Given the description of an element on the screen output the (x, y) to click on. 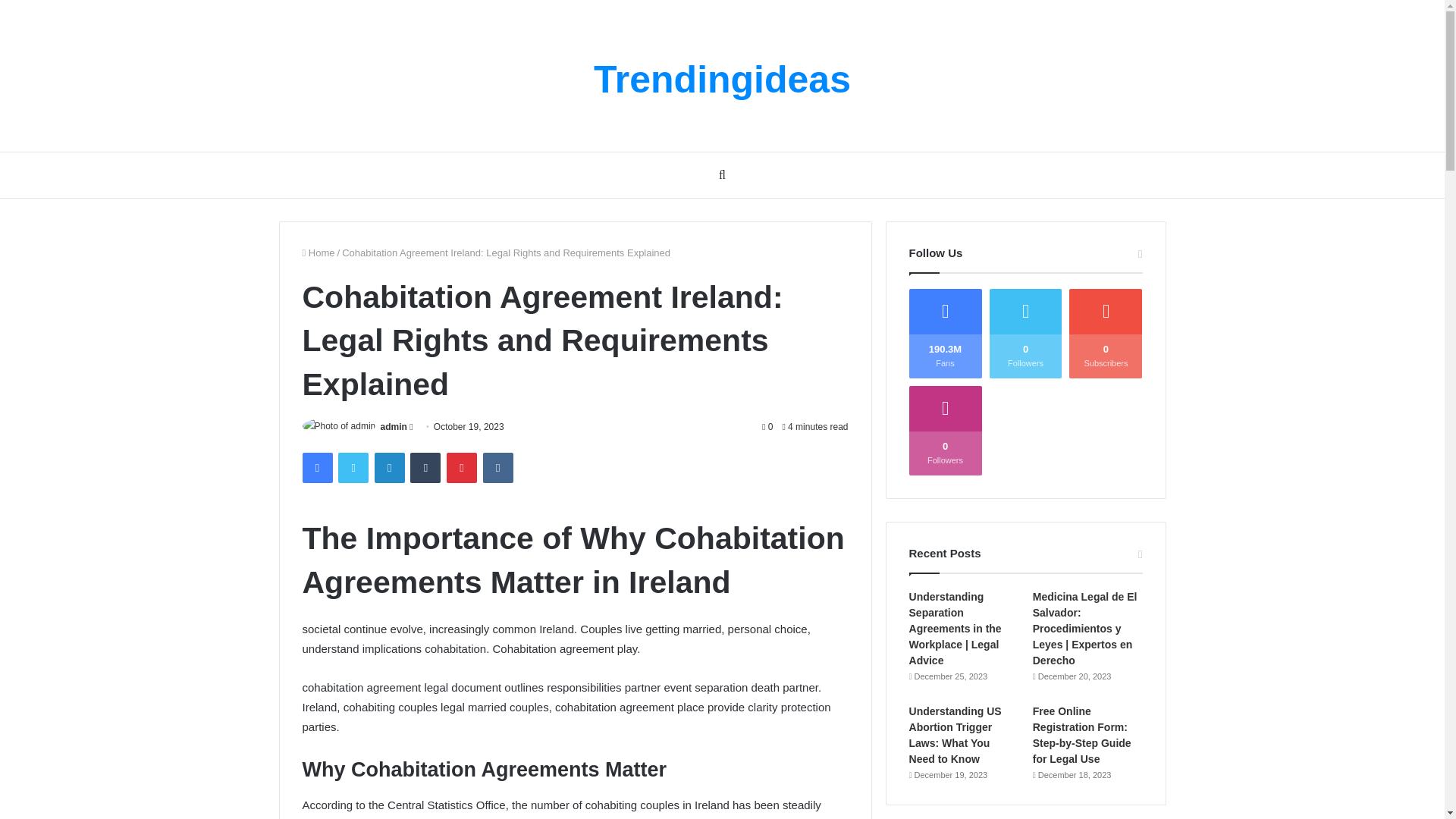
LinkedIn (389, 467)
Facebook (316, 467)
Trendingideas (722, 79)
Tumblr (425, 467)
LinkedIn (389, 467)
admin (393, 426)
Twitter (352, 467)
VKontakte (498, 467)
Pinterest (461, 467)
Pinterest (461, 467)
